Given the description of an element on the screen output the (x, y) to click on. 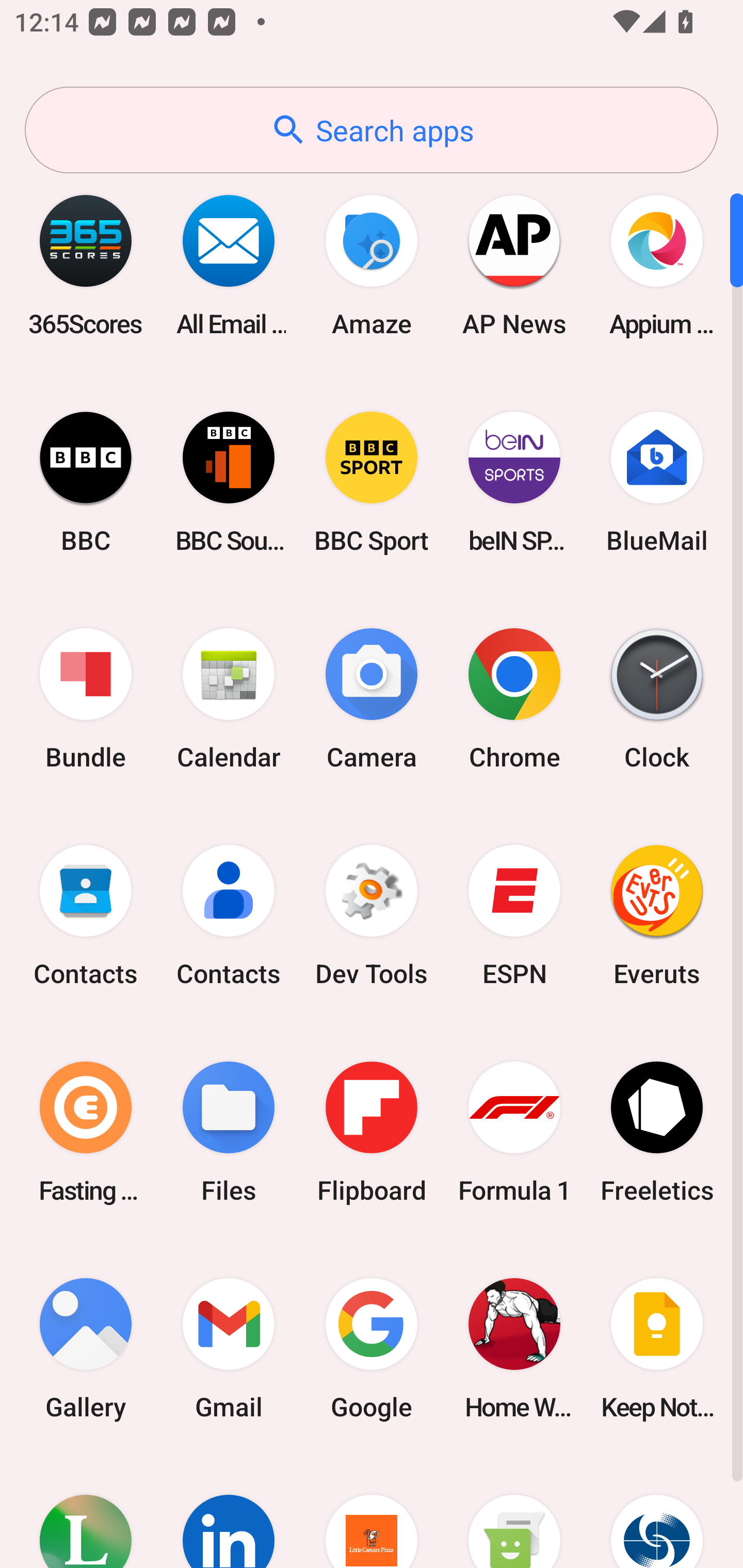
  Search apps (371, 130)
365Scores (85, 264)
All Email Connect (228, 264)
Amaze (371, 264)
AP News (514, 264)
Appium Settings (656, 264)
BBC (85, 482)
BBC Sounds (228, 482)
BBC Sport (371, 482)
beIN SPORTS (514, 482)
BlueMail (656, 482)
Bundle (85, 699)
Calendar (228, 699)
Camera (371, 699)
Chrome (514, 699)
Clock (656, 699)
Contacts (85, 915)
Contacts (228, 915)
Dev Tools (371, 915)
ESPN (514, 915)
Everuts (656, 915)
Fasting Coach (85, 1131)
Files (228, 1131)
Flipboard (371, 1131)
Formula 1 (514, 1131)
Freeletics (656, 1131)
Gallery (85, 1348)
Gmail (228, 1348)
Google (371, 1348)
Home Workout (514, 1348)
Keep Notes (656, 1348)
Lifesum (85, 1512)
LinkedIn (228, 1512)
Little Caesars Pizza (371, 1512)
Messaging (514, 1512)
MyObservatory (656, 1512)
